Given the description of an element on the screen output the (x, y) to click on. 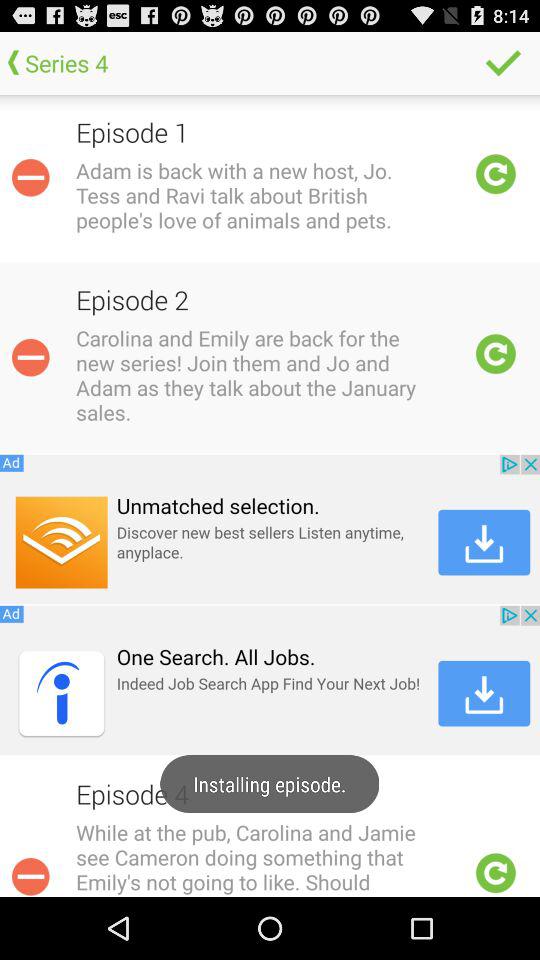
select advertisement (270, 529)
